Given the description of an element on the screen output the (x, y) to click on. 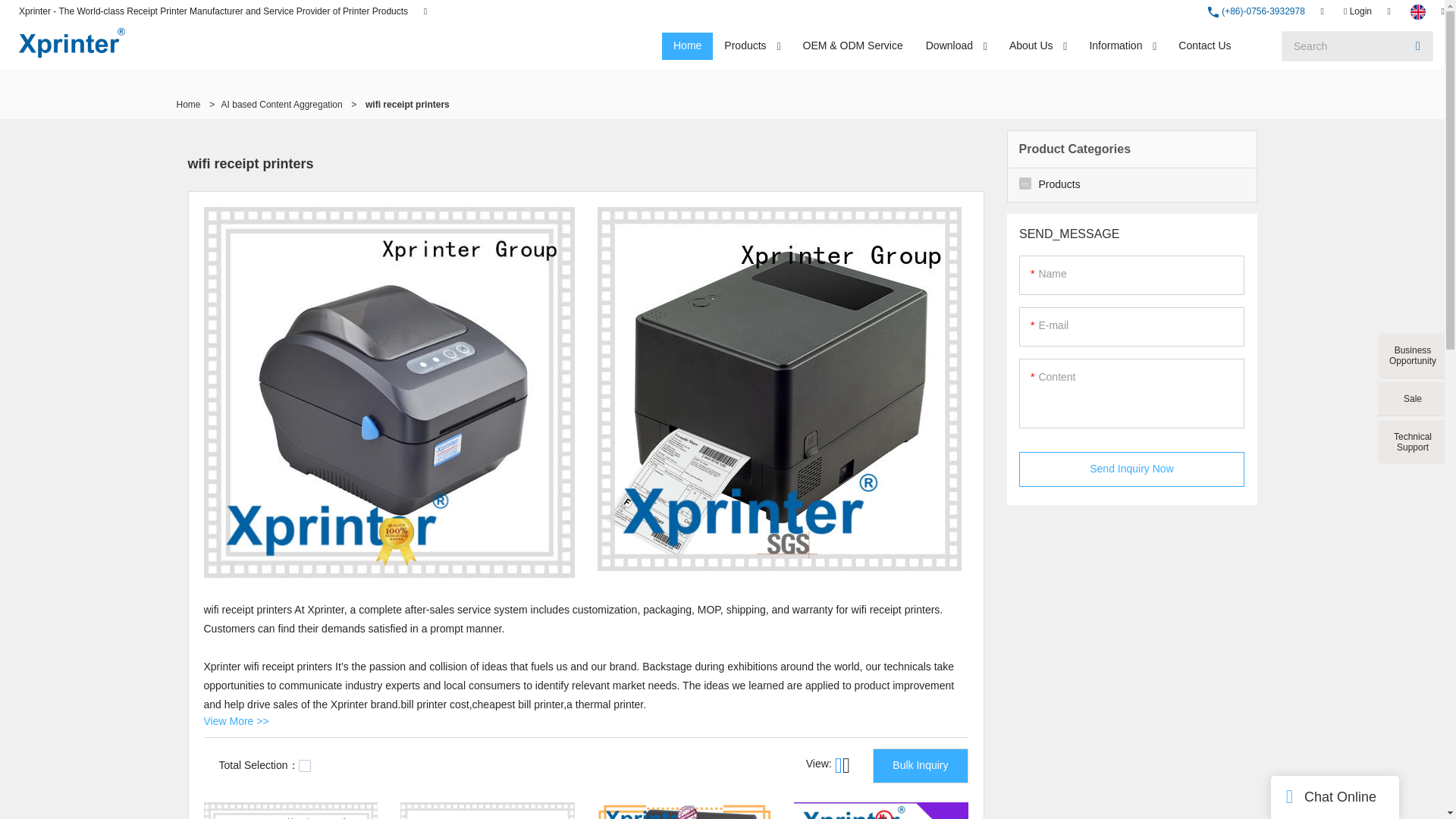
Login (1357, 10)
Download (949, 45)
on (304, 766)
Home (687, 45)
Products (745, 45)
